Given the description of an element on the screen output the (x, y) to click on. 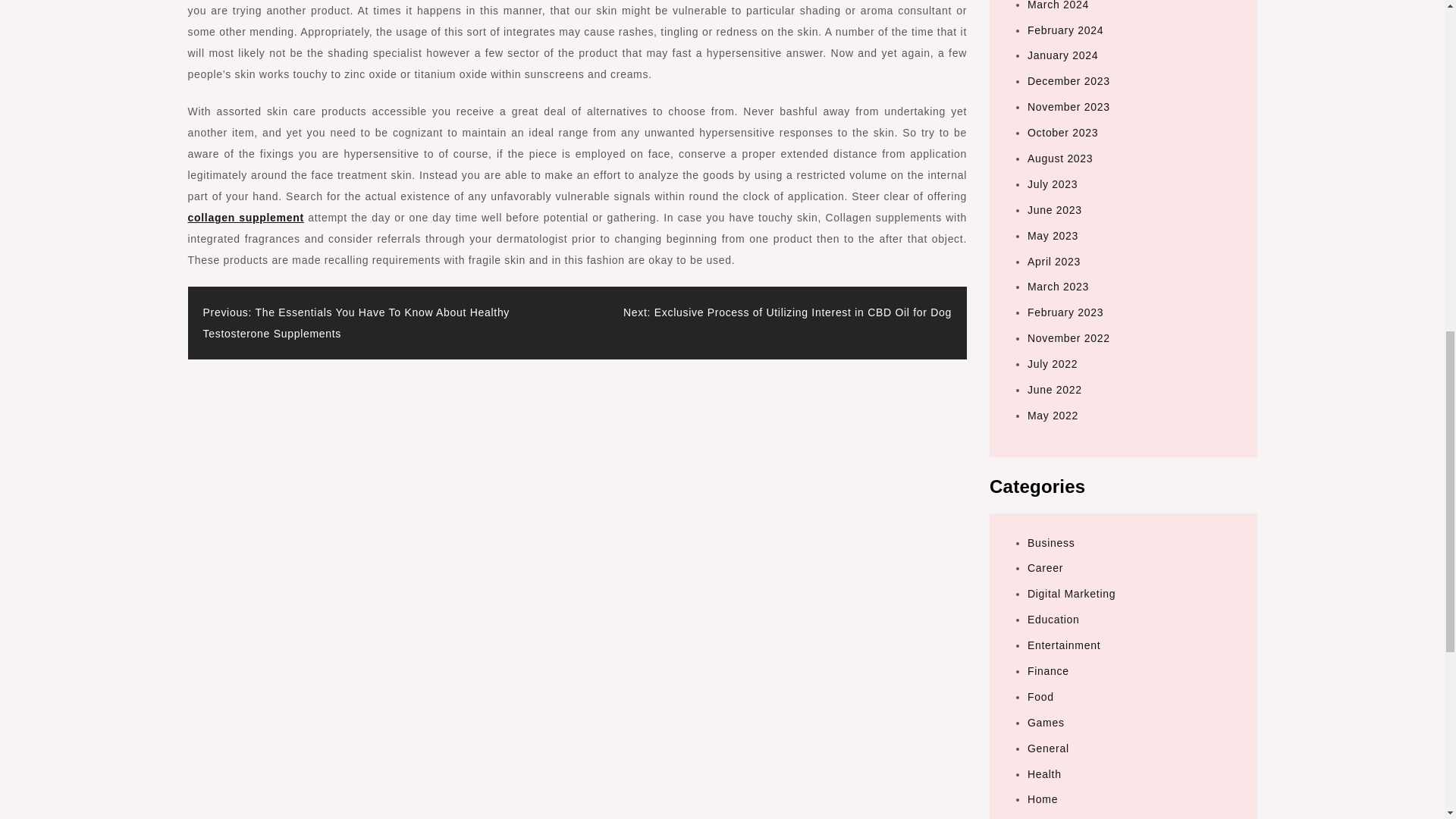
January 2024 (1062, 55)
October 2023 (1062, 132)
August 2023 (1060, 158)
collagen supplement (245, 217)
March 2024 (1058, 5)
February 2023 (1065, 312)
April 2023 (1053, 261)
November 2023 (1068, 106)
May 2023 (1052, 235)
July 2022 (1052, 363)
